Given the description of an element on the screen output the (x, y) to click on. 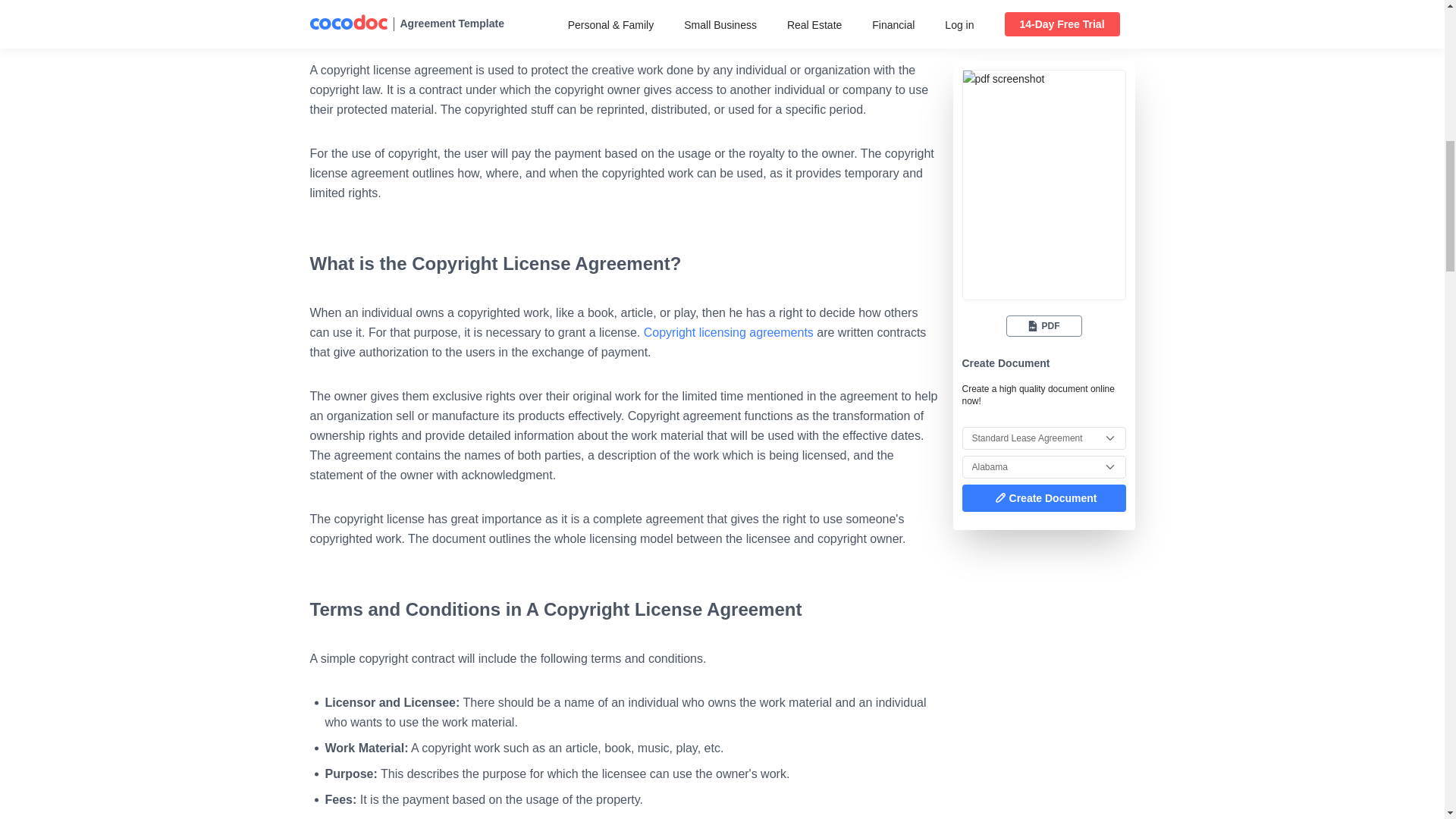
Copyright licensing agreements (728, 332)
